Given the description of an element on the screen output the (x, y) to click on. 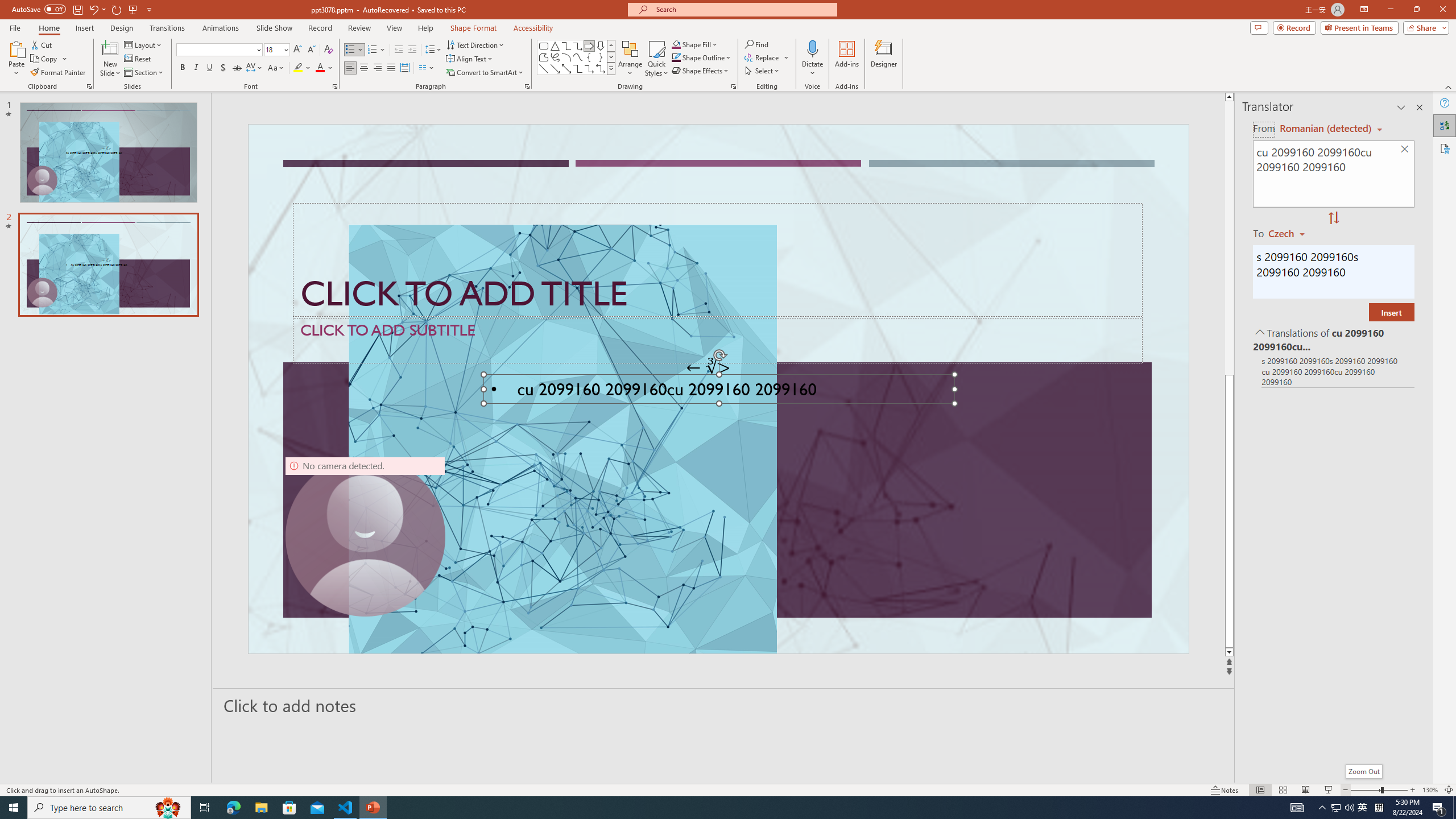
Clear text (1404, 149)
